Given the description of an element on the screen output the (x, y) to click on. 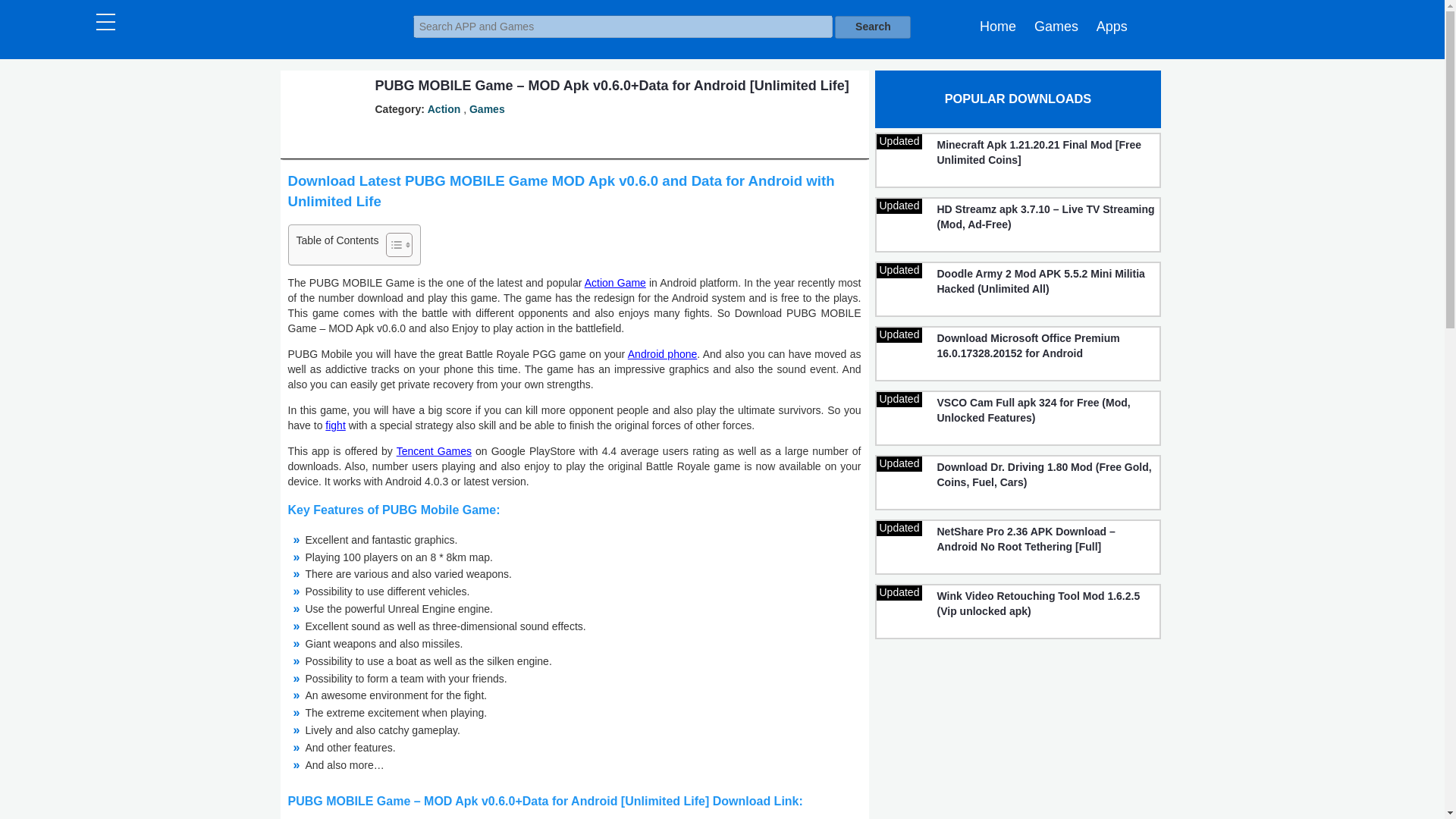
Search (872, 26)
Games (1055, 26)
Search (872, 26)
Home (997, 26)
Apps (1111, 26)
